Given the description of an element on the screen output the (x, y) to click on. 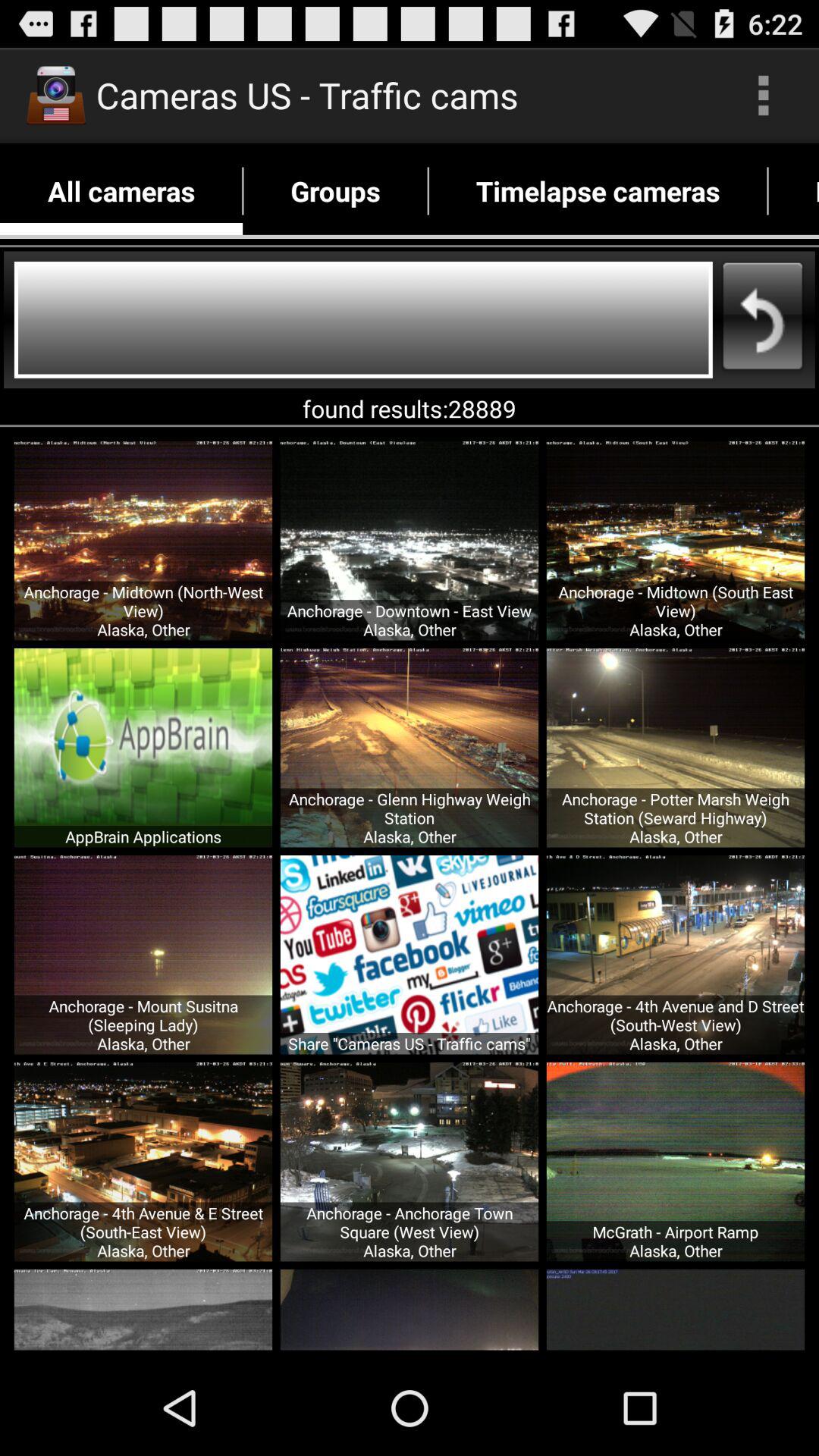
jump until the timelapse cameras item (597, 190)
